Given the description of an element on the screen output the (x, y) to click on. 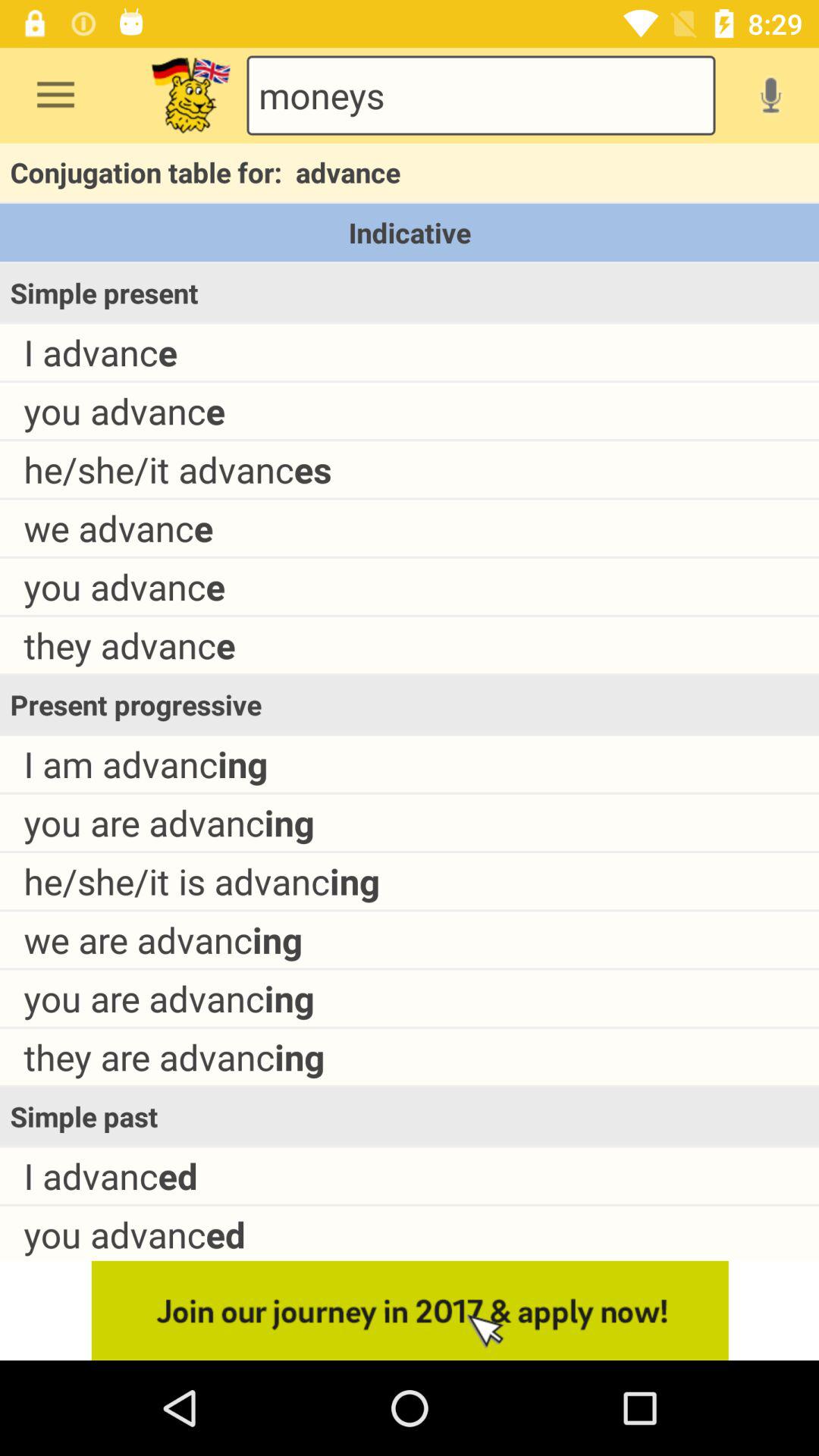
click to logo (190, 95)
